Given the description of an element on the screen output the (x, y) to click on. 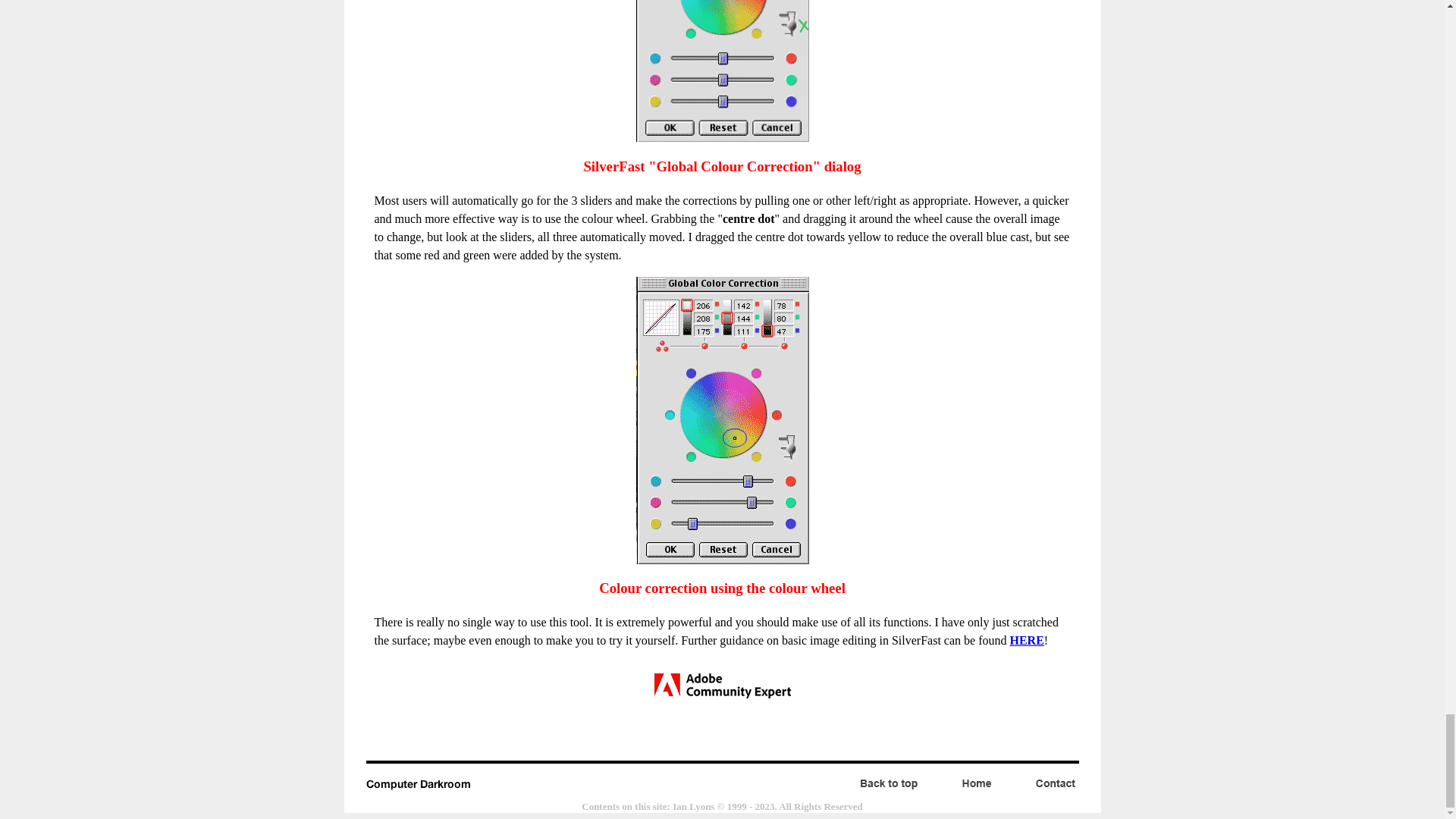
HERE (1026, 640)
